Given the description of an element on the screen output the (x, y) to click on. 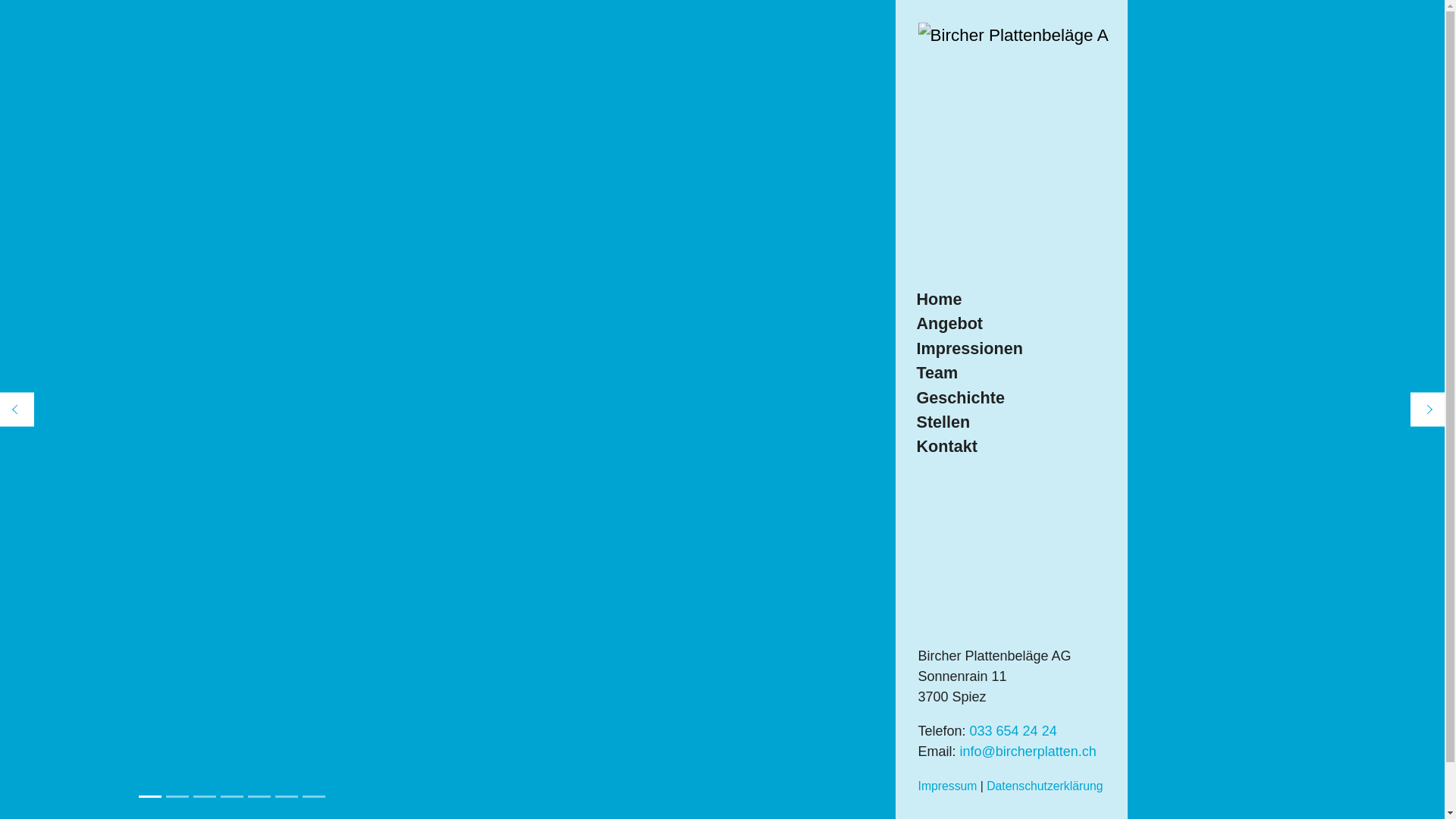
Impressum Element type: text (946, 785)
Stellen Element type: text (968, 422)
Team Element type: text (968, 372)
Impressionen Element type: text (968, 348)
info@bircherplatten.ch Element type: text (1028, 751)
Angebot Element type: text (968, 323)
Kontakt Element type: text (968, 446)
Home
(current) Element type: text (968, 299)
033 654 24 24 Element type: text (1013, 730)
Geschichte Element type: text (968, 397)
